Given the description of an element on the screen output the (x, y) to click on. 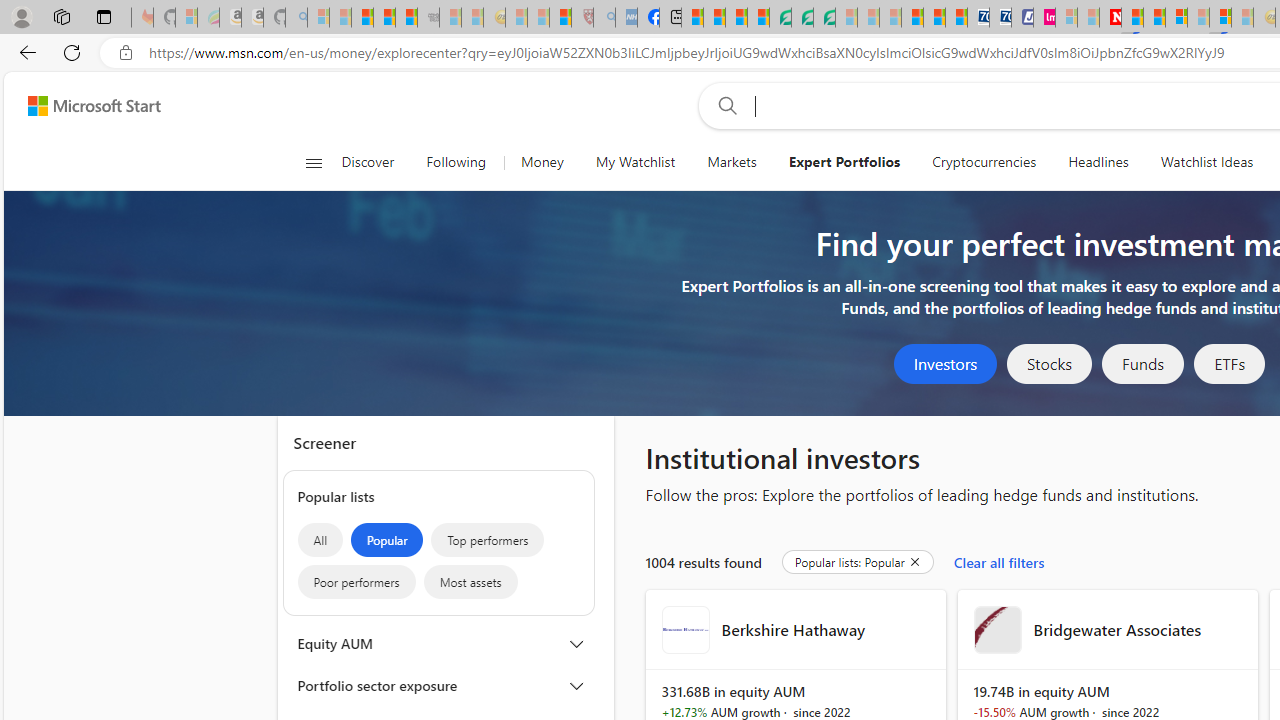
Funds (1142, 363)
Investors (945, 363)
Stocks (1049, 363)
Headlines (1097, 162)
Jobs - lastminute.com Investor Portal (1044, 17)
